Given the description of an element on the screen output the (x, y) to click on. 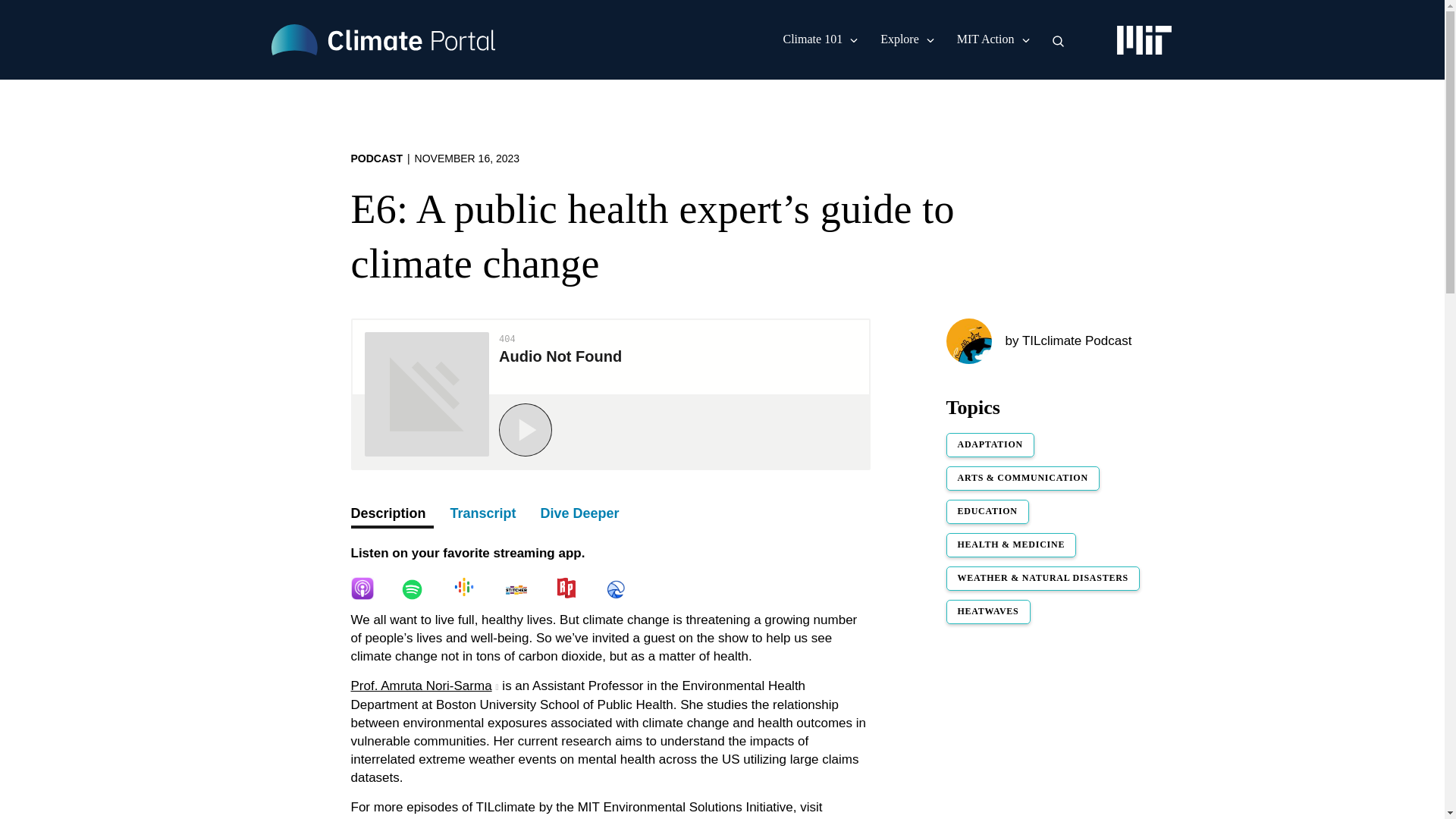
Search (1058, 41)
Transcript (483, 515)
Prof. Amruta Nori-Sarma (423, 685)
Dive Deeper (579, 515)
